Given the description of an element on the screen output the (x, y) to click on. 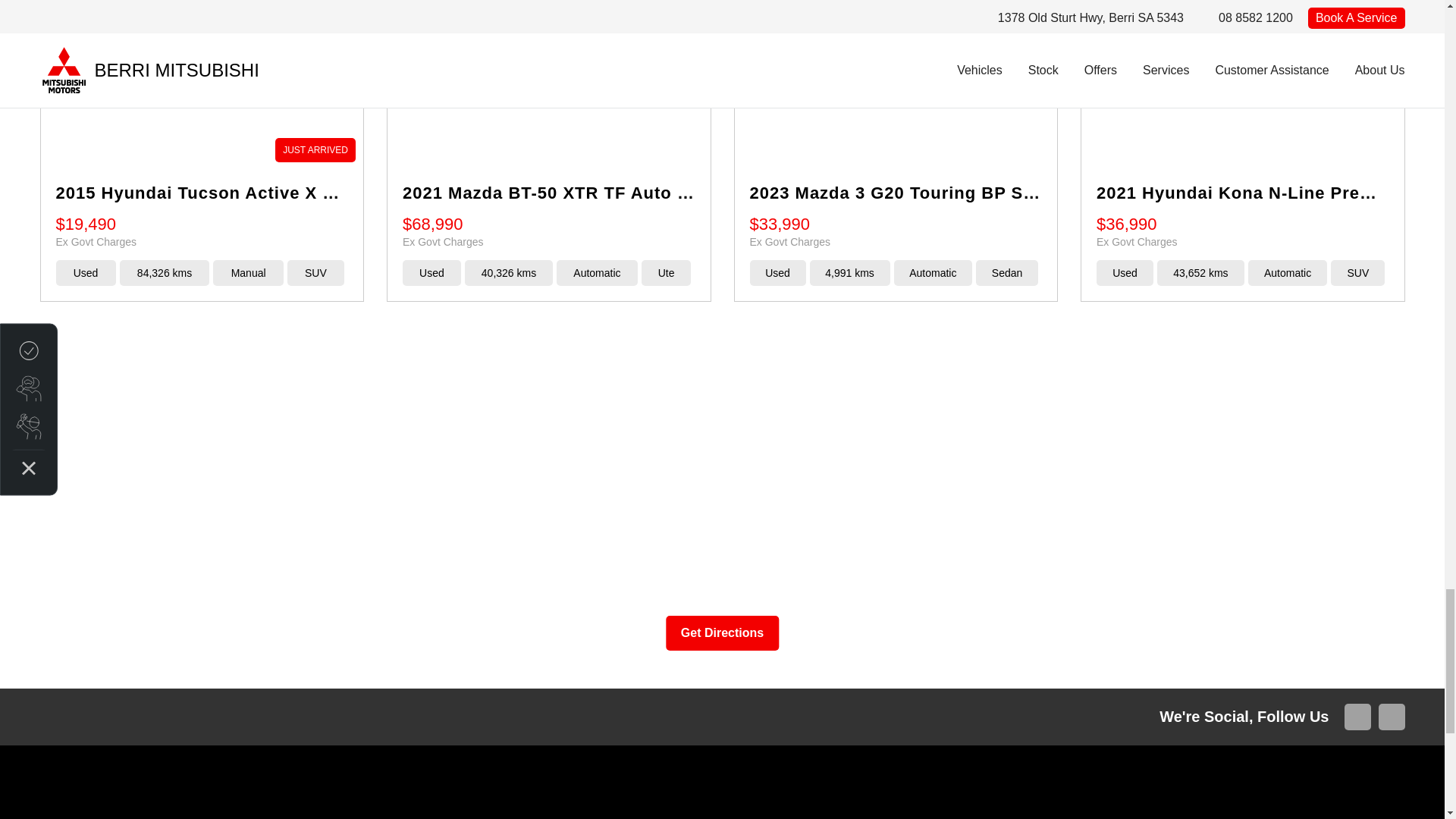
2015 Hyundai Tucson Active X Manual 2WD (202, 84)
2021 Mazda BT-50 XTR TF Auto 4x4 Dual Cab (548, 84)
2023 Mazda 3 G20 Touring BP Series Auto (895, 84)
2021 Hyundai Kona N-Line Premium Auto AWD MY22 (1243, 84)
